Given the description of an element on the screen output the (x, y) to click on. 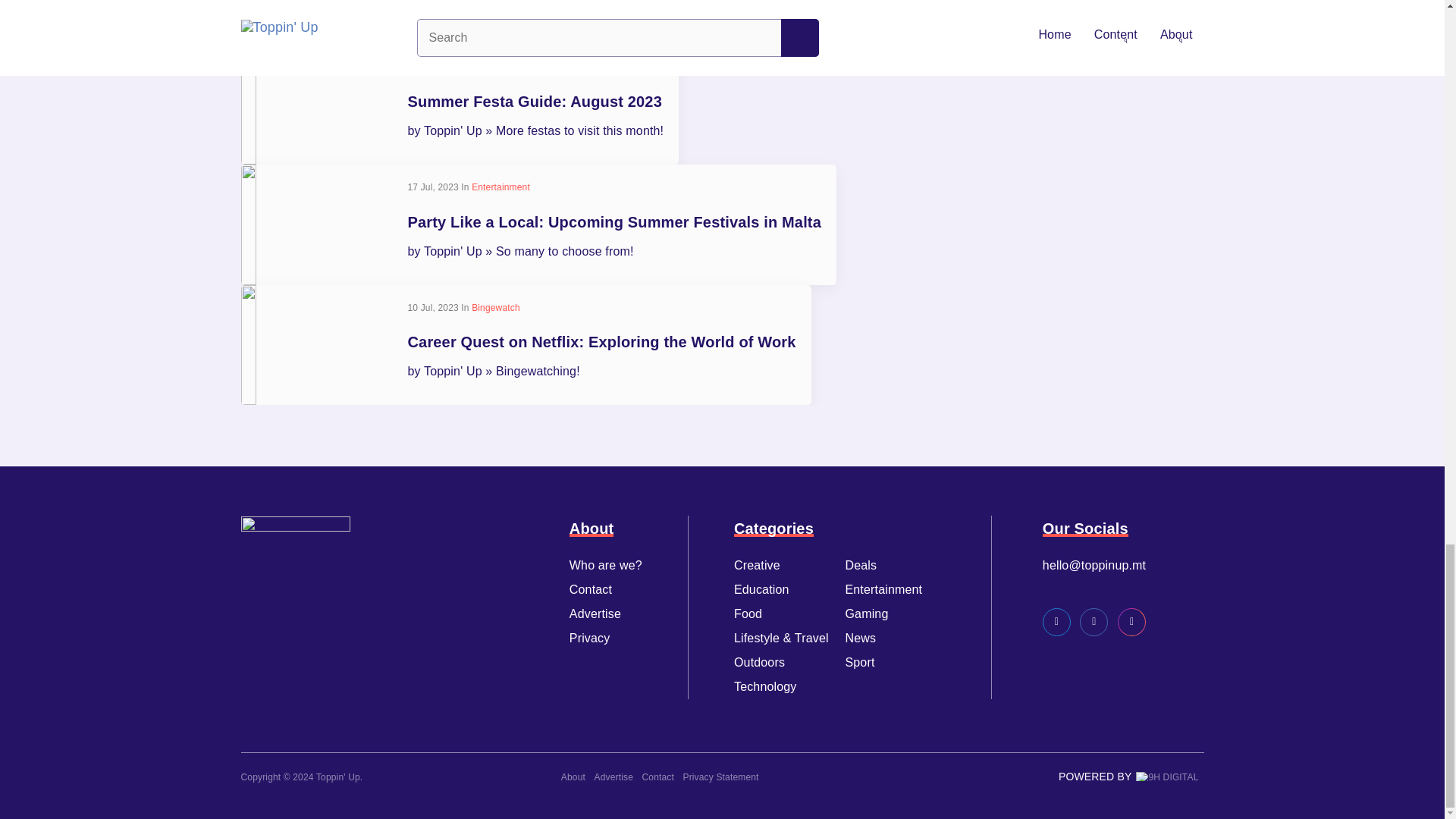
Bingewatch (495, 307)
Entertainment (500, 186)
